Given the description of an element on the screen output the (x, y) to click on. 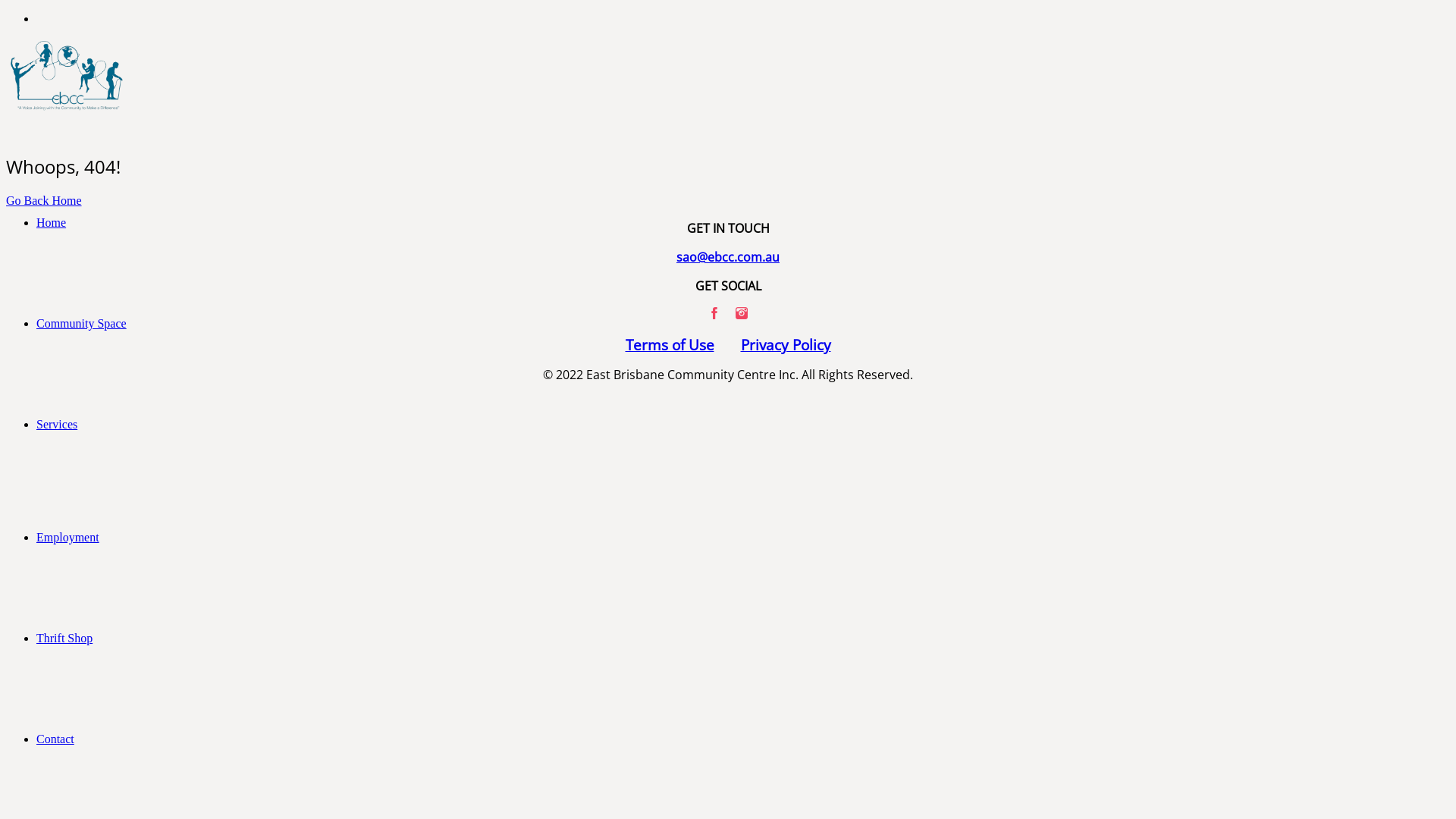
Go Back Home Element type: text (43, 200)
Services Element type: text (56, 423)
Community Space Element type: text (81, 322)
sao@ebcc.com.au Element type: text (727, 256)
Employment Element type: text (67, 536)
Terms of Use Element type: text (668, 344)
Contact Element type: text (55, 738)
Home Element type: text (50, 222)
Privacy Policy Element type: text (785, 344)
Thrift Shop Element type: text (64, 637)
